Given the description of an element on the screen output the (x, y) to click on. 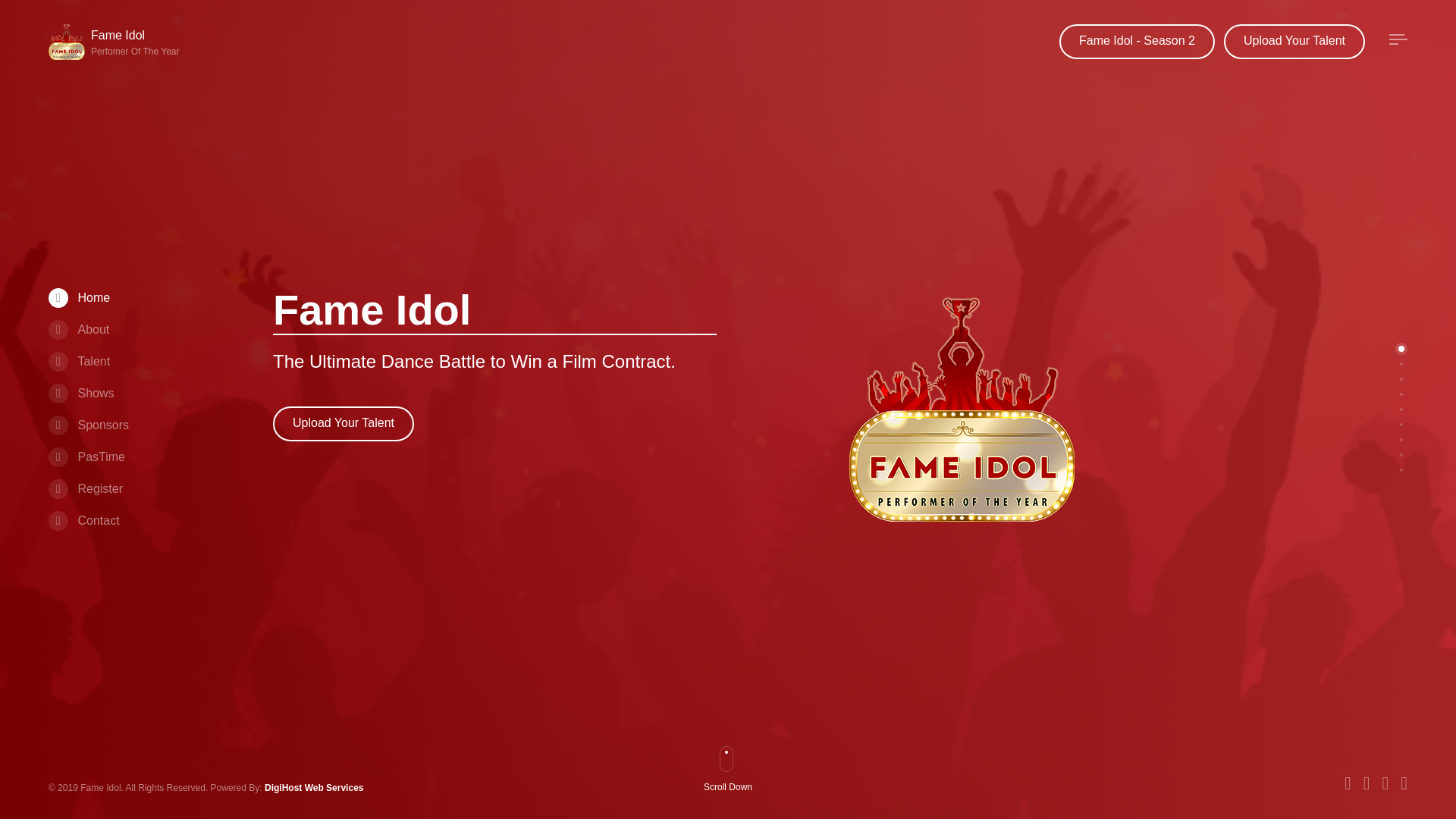
Talent (79, 360)
PasTime (86, 456)
Contact (83, 520)
Home (79, 297)
Scroll Down (733, 788)
DigiHost Web Services (314, 787)
Scroll Down (733, 788)
Sponsors (88, 424)
Upload Your Talent (343, 423)
